Given the description of an element on the screen output the (x, y) to click on. 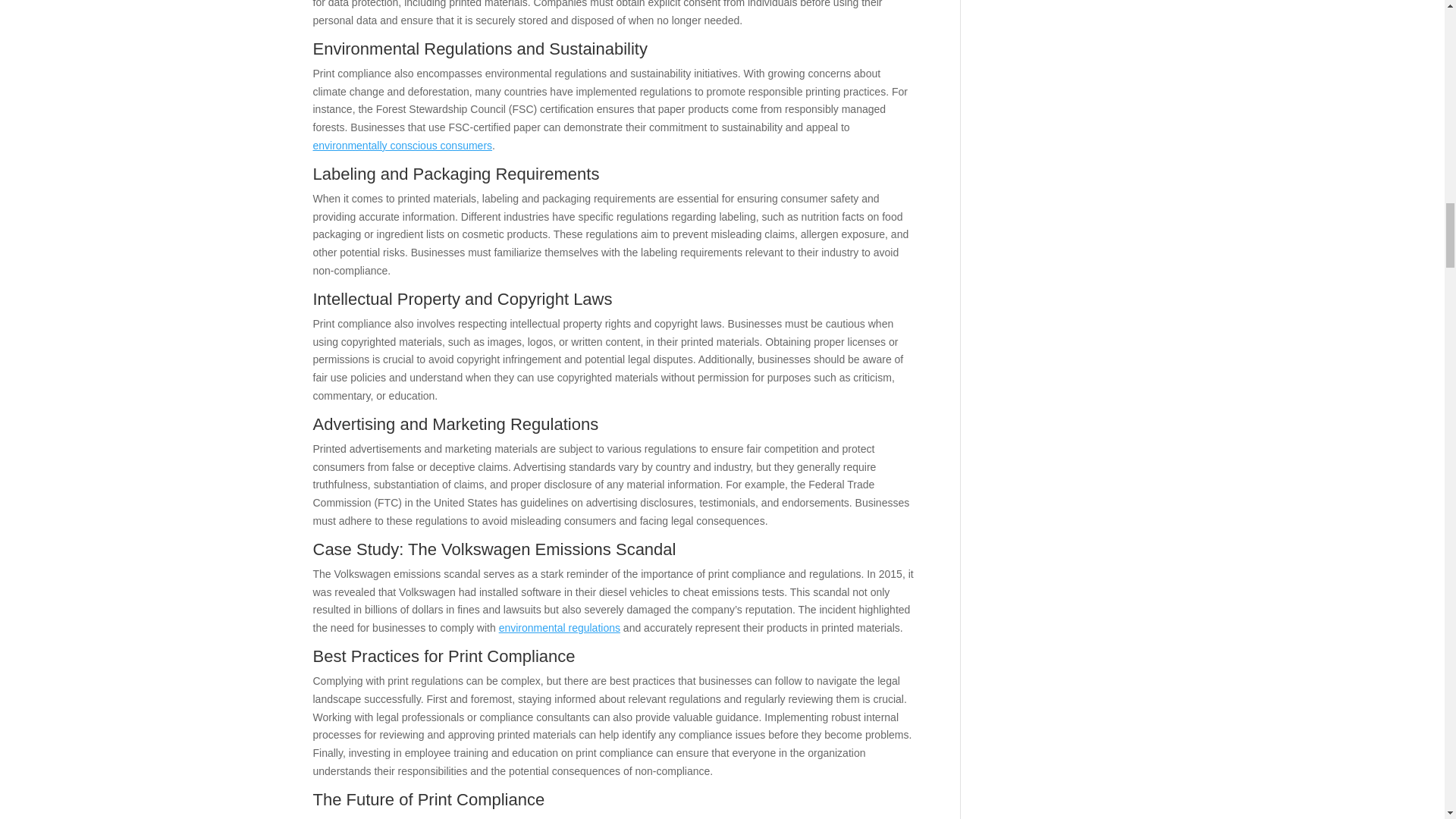
environmental regulations (559, 627)
environmentally conscious consumers (402, 145)
